Given the description of an element on the screen output the (x, y) to click on. 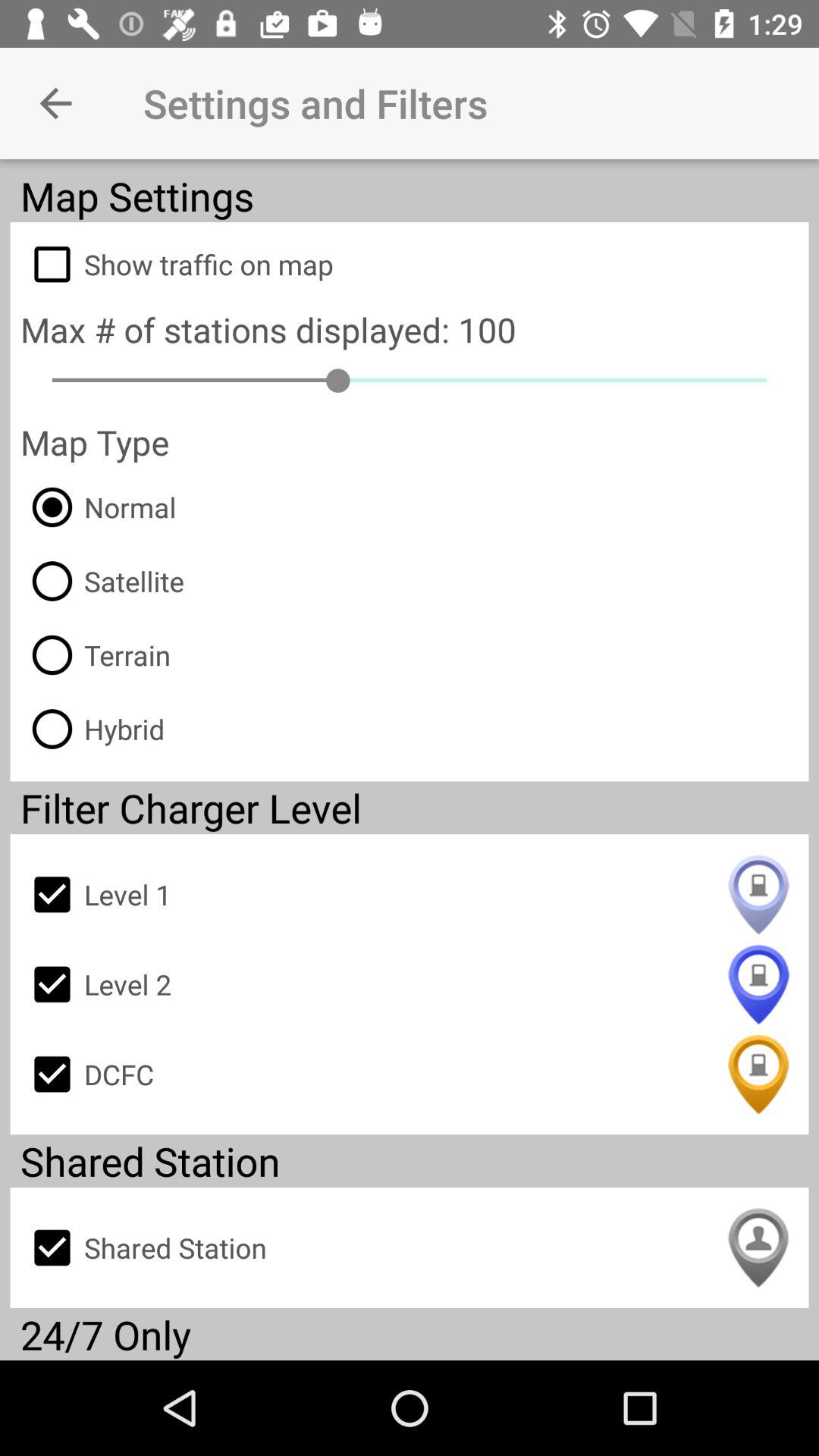
turn on the icon below the satellite (95, 655)
